Given the description of an element on the screen output the (x, y) to click on. 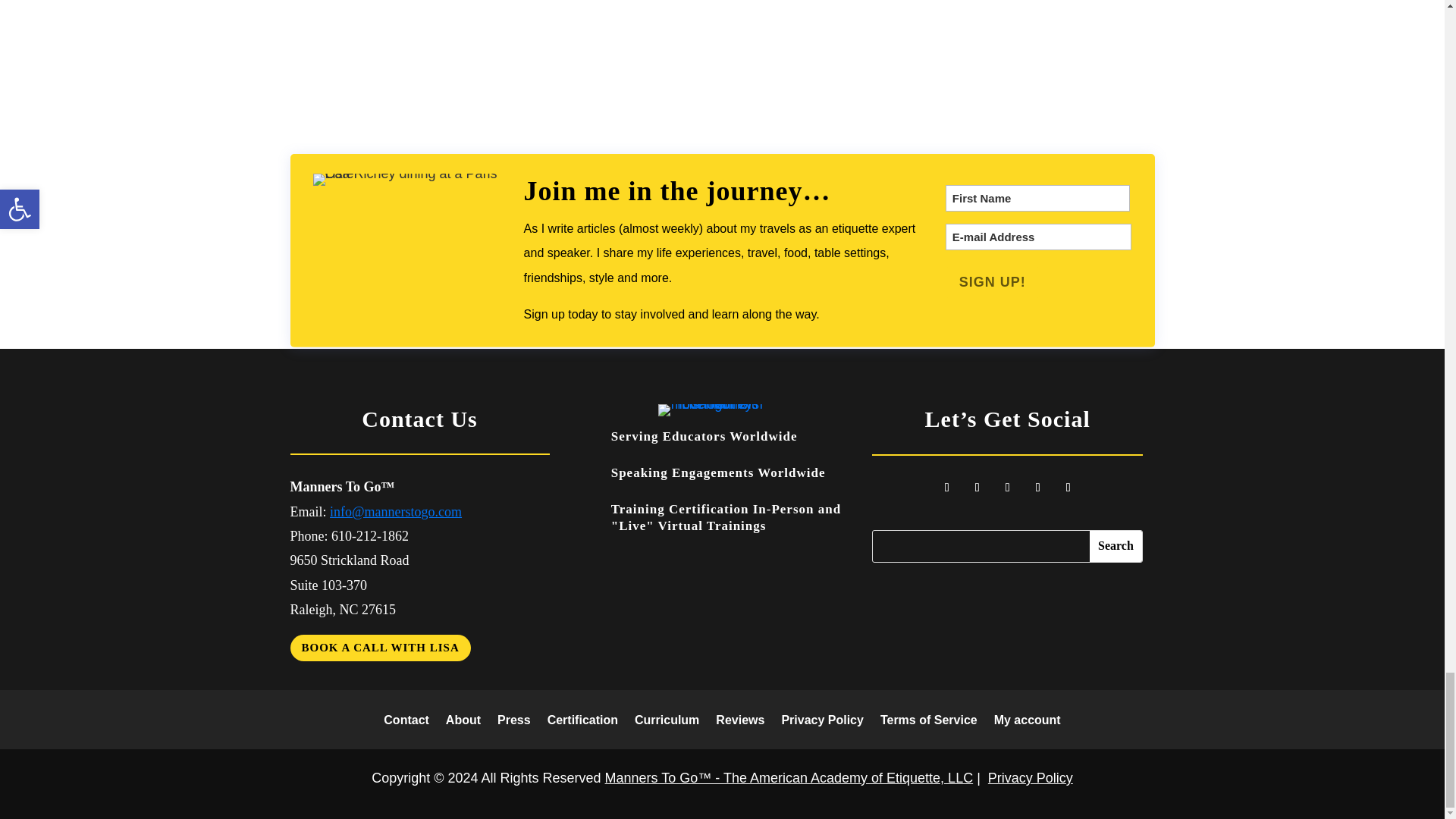
Search (1115, 545)
Search (1115, 545)
Sign Up! (991, 282)
